Given the description of an element on the screen output the (x, y) to click on. 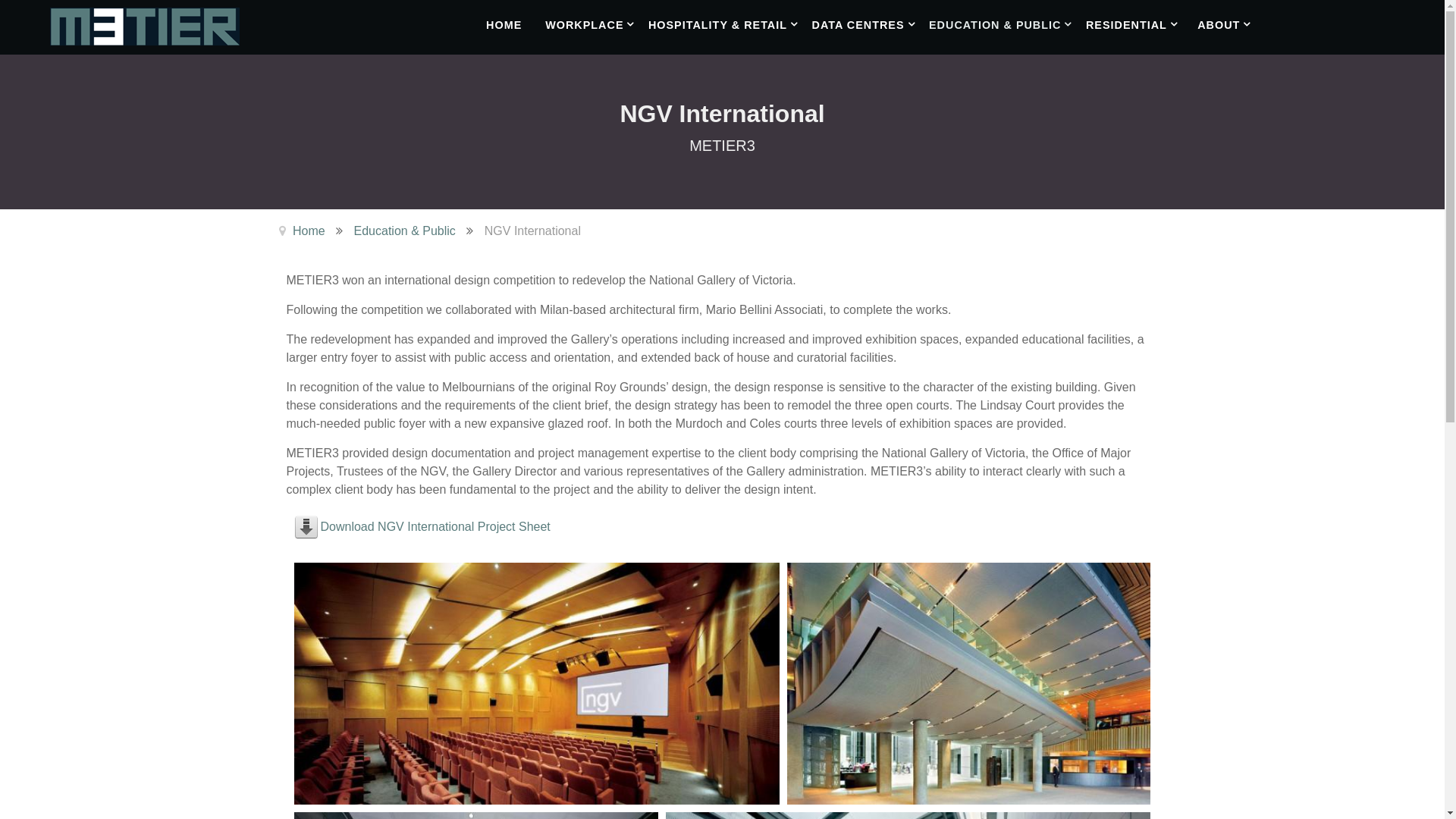
HOME Element type: text (504, 24)
031207 ngv 32 Element type: hover (537, 683)
ngv 03 Element type: hover (968, 683)
Home Element type: text (308, 230)
Education & Public Element type: text (404, 230)
DATA CENTRES Element type: text (868, 24)
Download NGV International Project Sheet Element type: text (434, 526)
ABOUT Element type: text (1229, 24)
EDUCATION & PUBLIC Element type: text (1005, 24)
RESIDENTIAL Element type: text (1136, 24)
WORKPLACE Element type: text (594, 24)
HOSPITALITY & RETAIL Element type: text (728, 24)
